Given the description of an element on the screen output the (x, y) to click on. 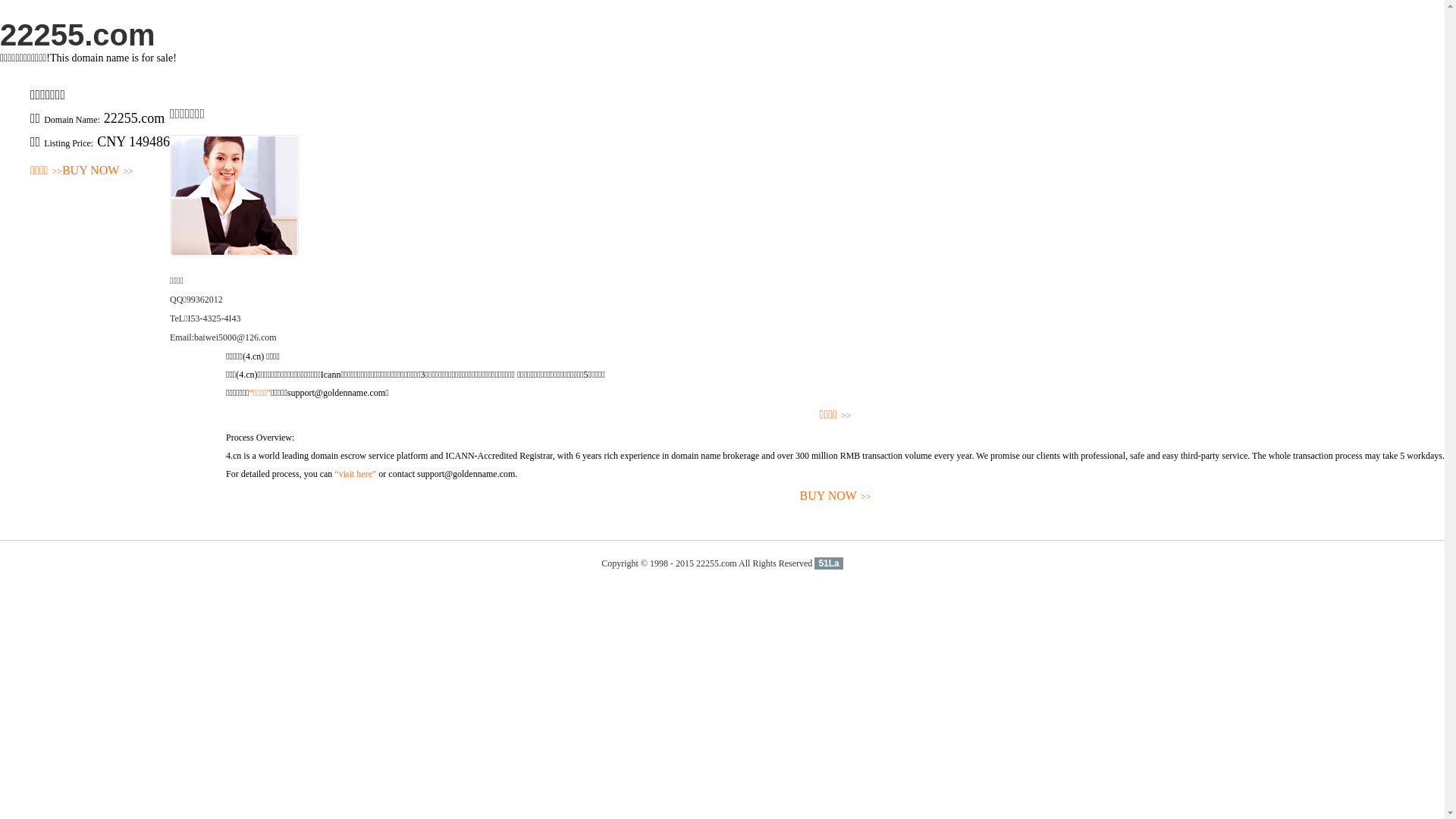
51La Element type: text (828, 563)
BUY NOW>> Element type: text (834, 496)
BUY NOW>> Element type: text (97, 170)
